Given the description of an element on the screen output the (x, y) to click on. 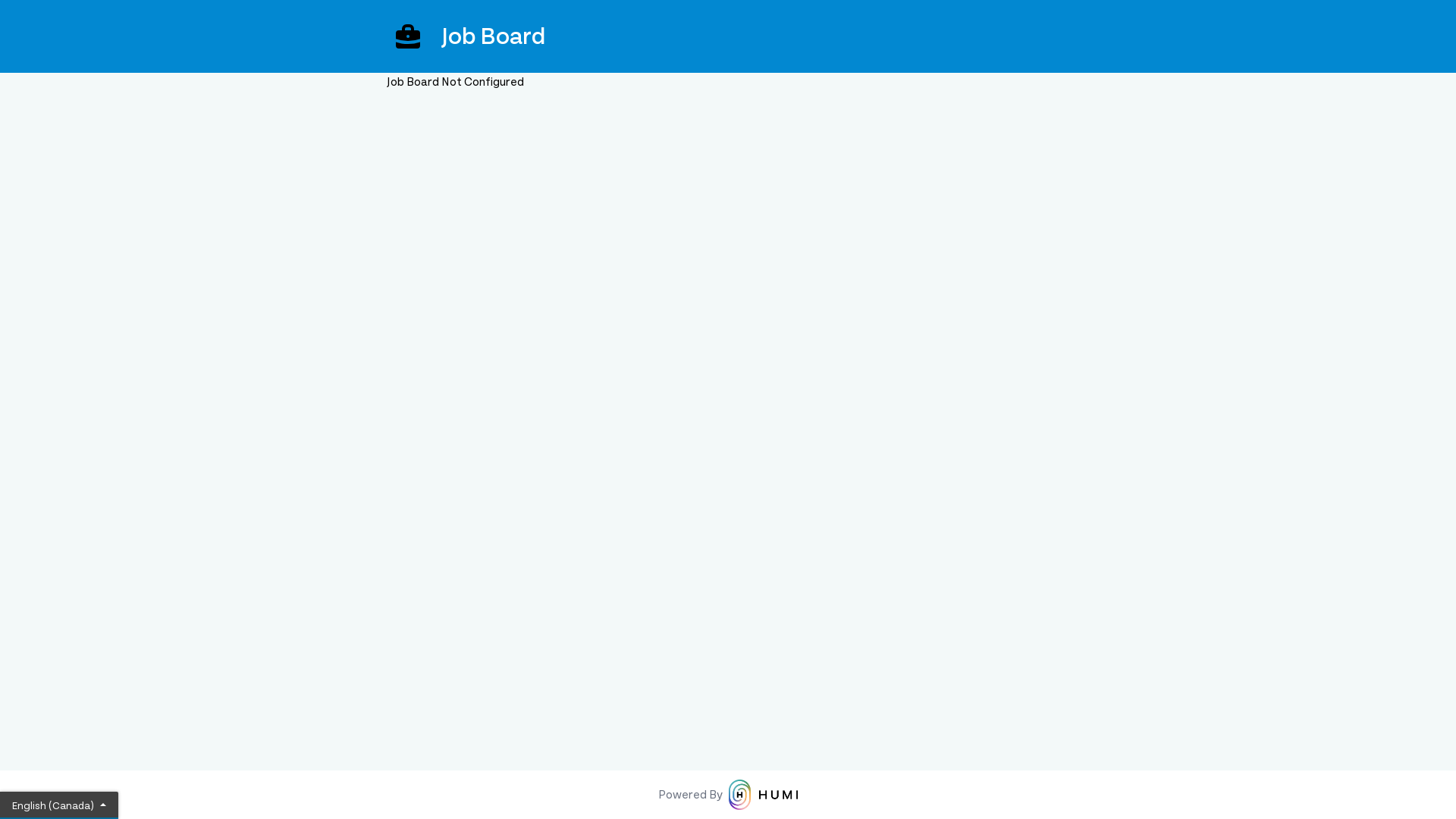
Job Board Element type: text (727, 36)
Powered By Element type: text (727, 794)
